Given the description of an element on the screen output the (x, y) to click on. 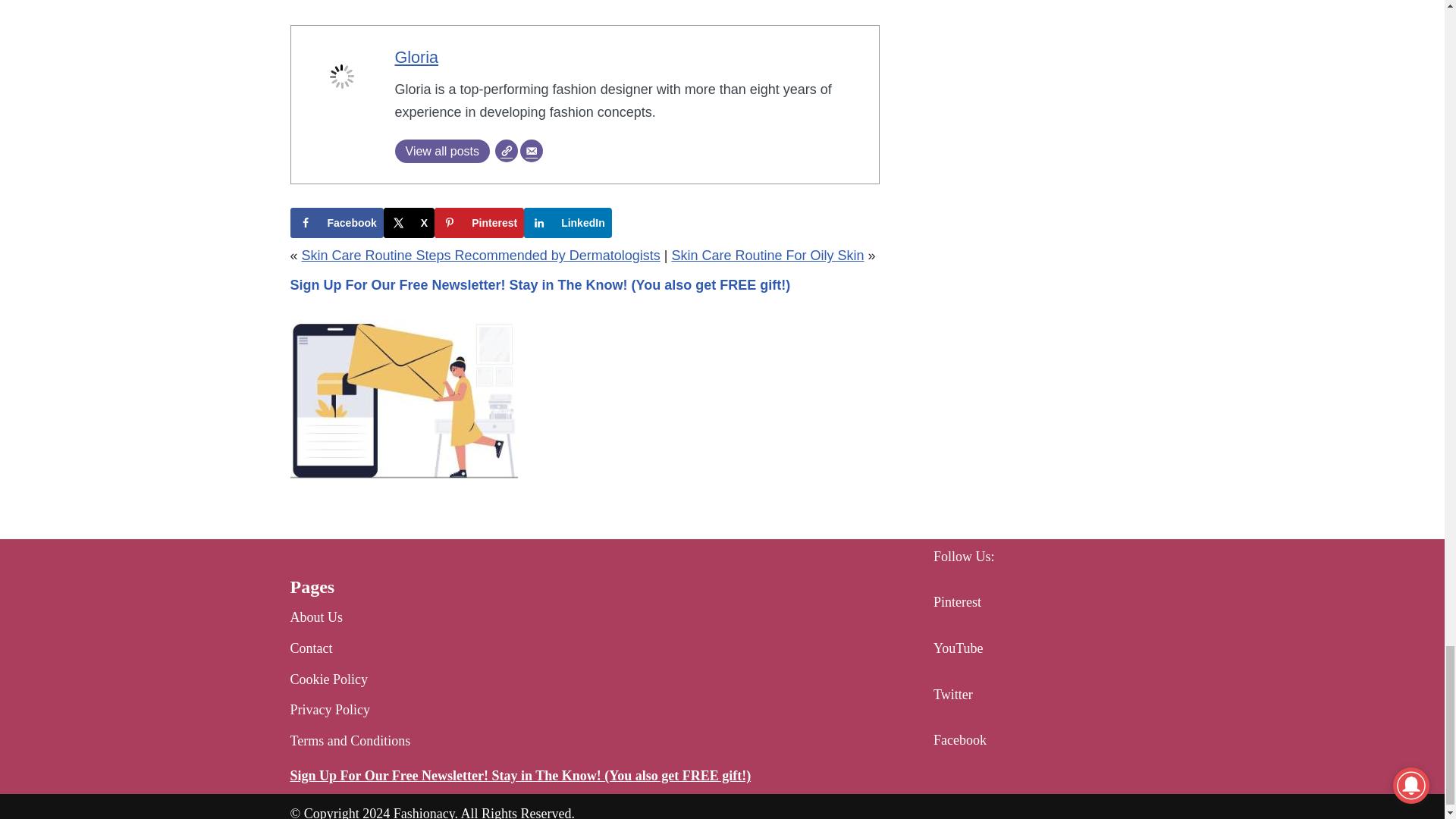
Gloria (416, 56)
View all posts (441, 150)
Share on X (408, 223)
Share on Facebook (335, 223)
